Given the description of an element on the screen output the (x, y) to click on. 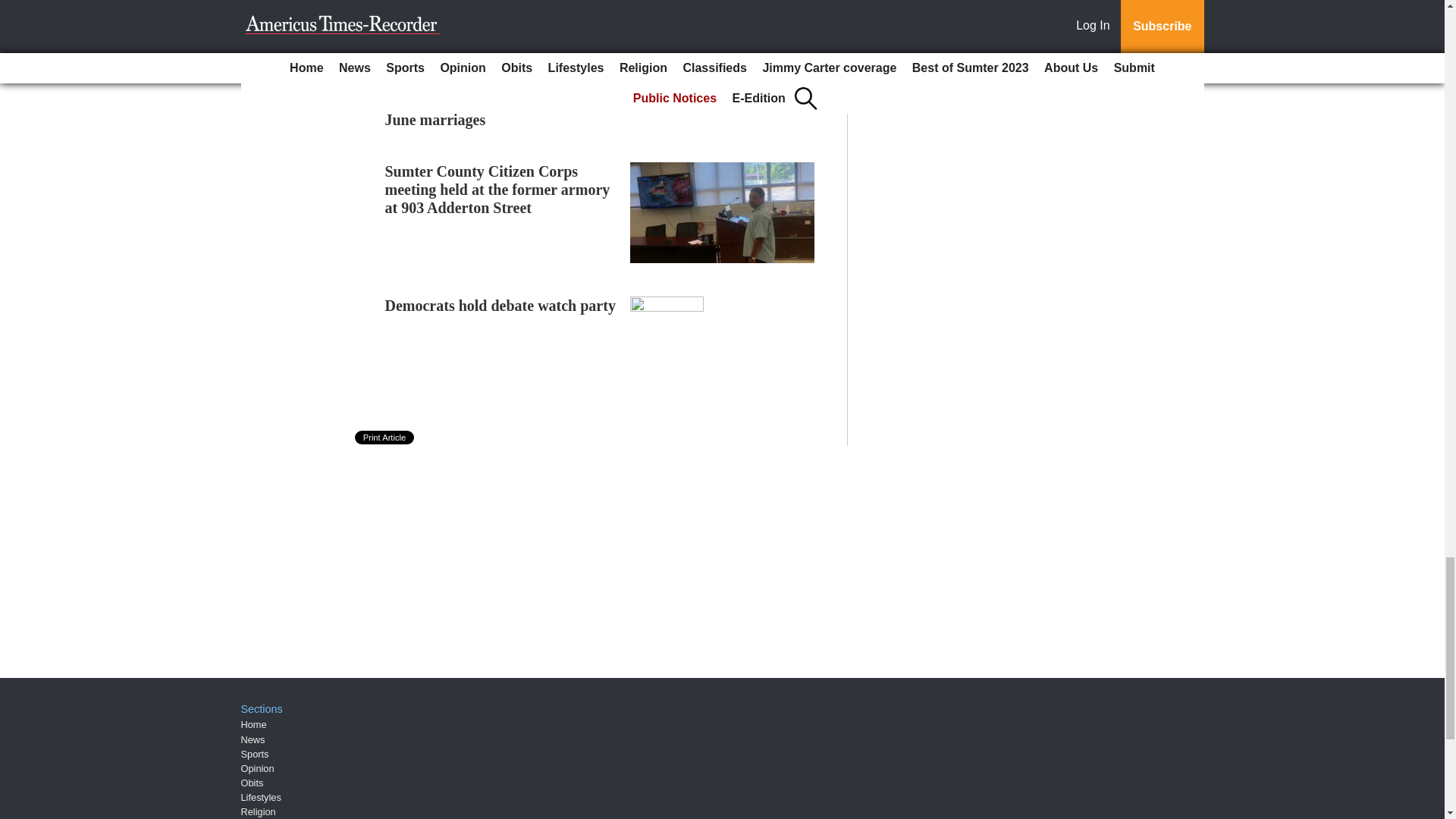
Democrats hold debate watch party (500, 305)
June marriages (435, 119)
Obits (252, 782)
Sports (255, 754)
June marriages (435, 119)
Print Article (384, 437)
Democrats hold debate watch party (500, 305)
Opinion (258, 767)
Lifestyles (261, 797)
Religion (258, 811)
News (252, 739)
Home (253, 724)
